Given the description of an element on the screen output the (x, y) to click on. 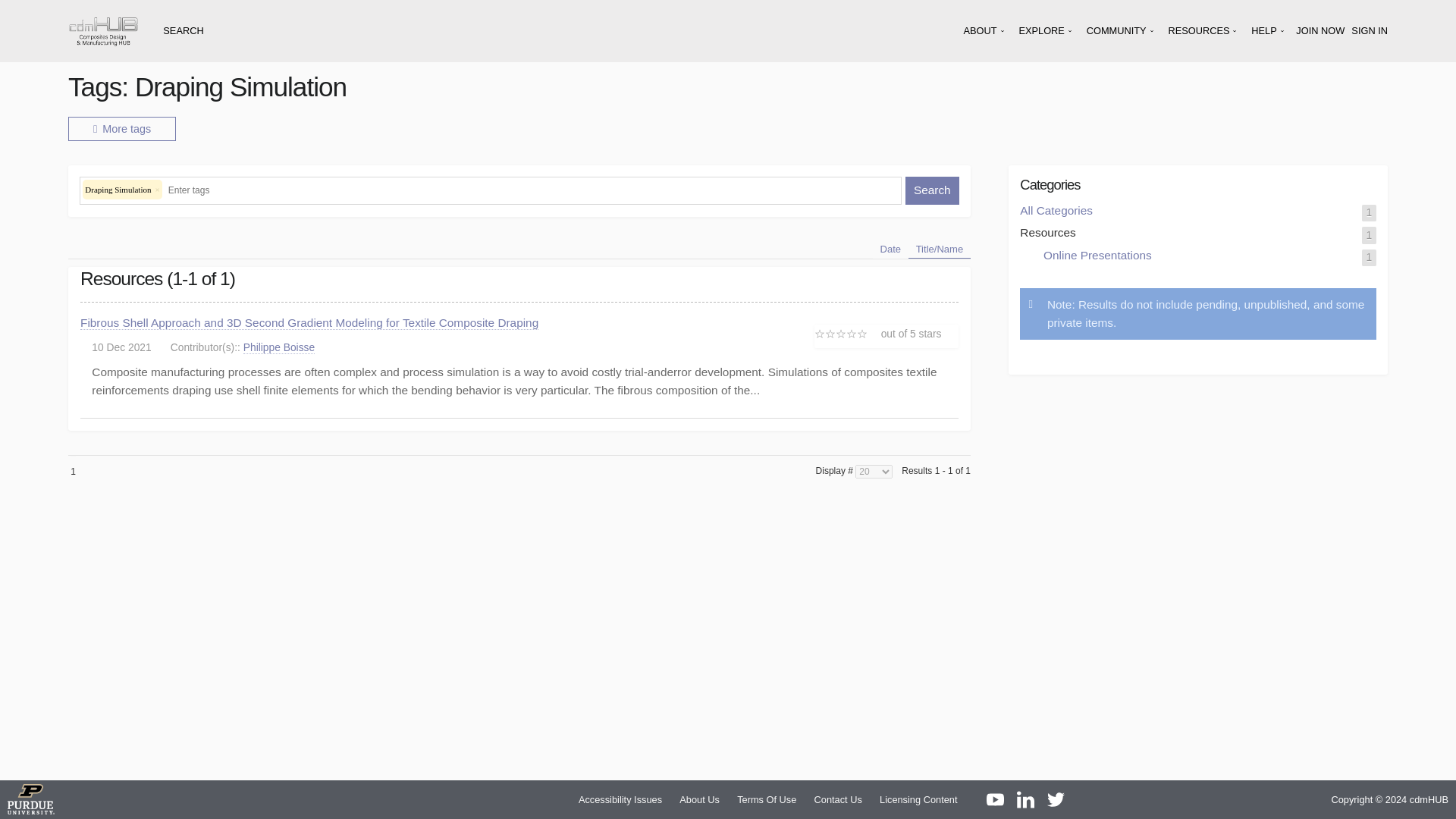
Search (932, 190)
COMMUNITY (1120, 30)
JOIN NOW (1319, 30)
cdmHUB - The Composites HUB (103, 29)
 out of 5 stars (878, 333)
Sign In (1369, 30)
Search (932, 190)
EXPLORE (1045, 30)
View the profile of Philippe Boisse (278, 347)
Philippe Boisse (278, 347)
More tags (122, 128)
Join Now (1319, 30)
Search (932, 190)
ABOUT (985, 30)
Date (890, 249)
